Given the description of an element on the screen output the (x, y) to click on. 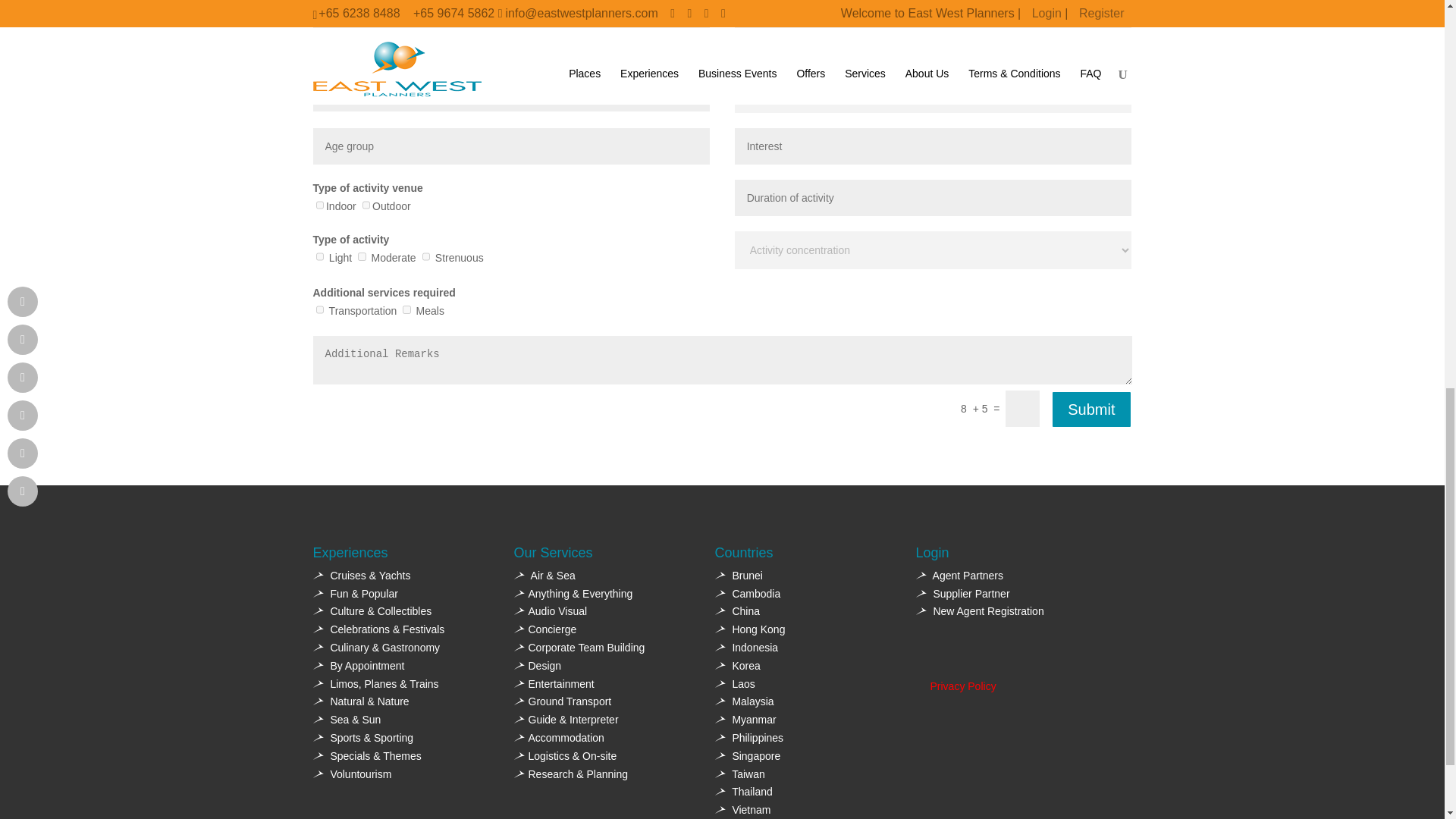
MODERATE (361, 256)
Submit (1091, 409)
STRENUOUS (425, 256)
TRANSPORTATION (319, 309)
INDOOR (319, 204)
MEALS (406, 309)
LIGHT (319, 256)
OUTDOOR (365, 204)
